Given the description of an element on the screen output the (x, y) to click on. 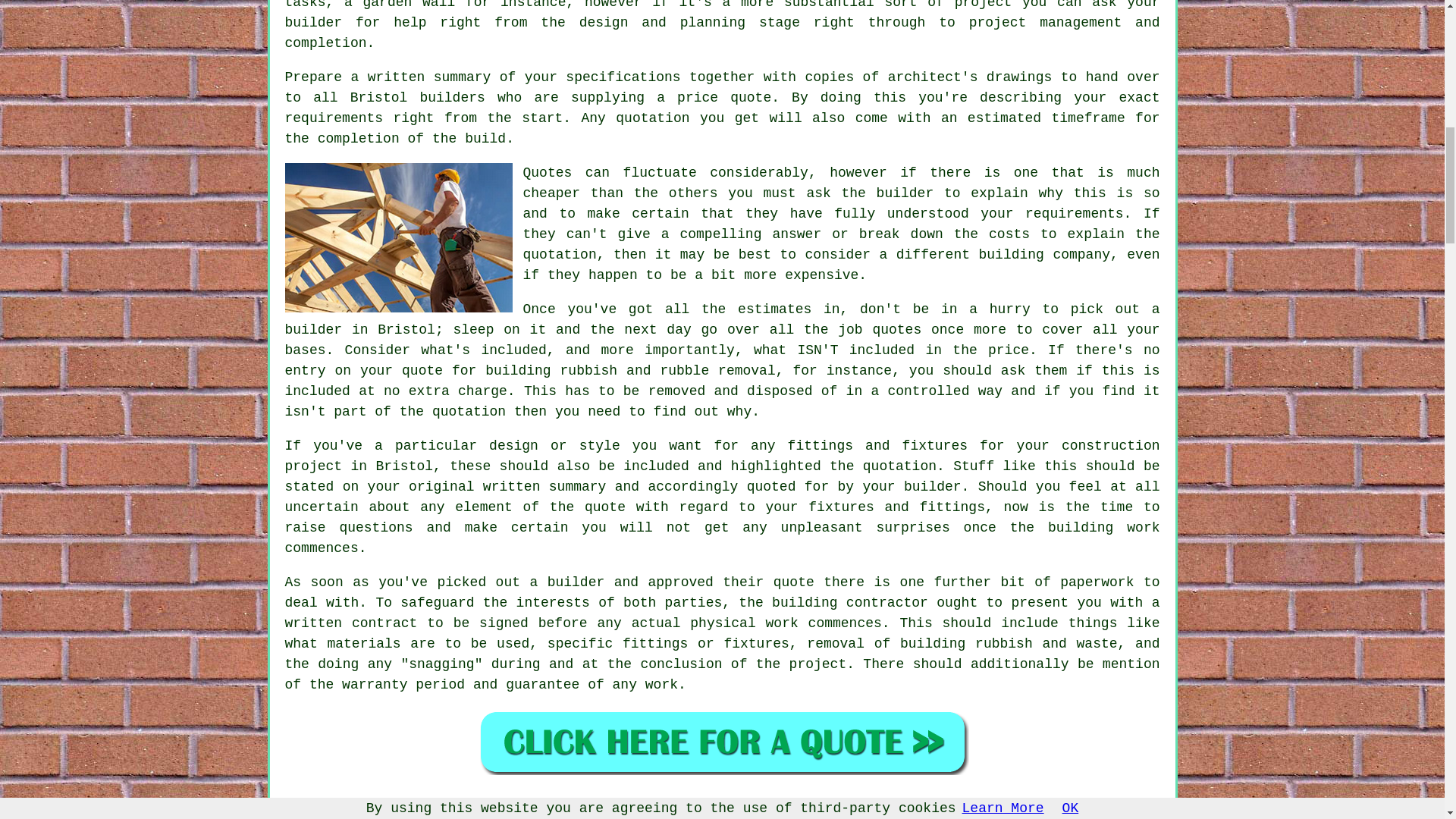
Builders Quotes in Bristol UK (722, 741)
